Given the description of an element on the screen output the (x, y) to click on. 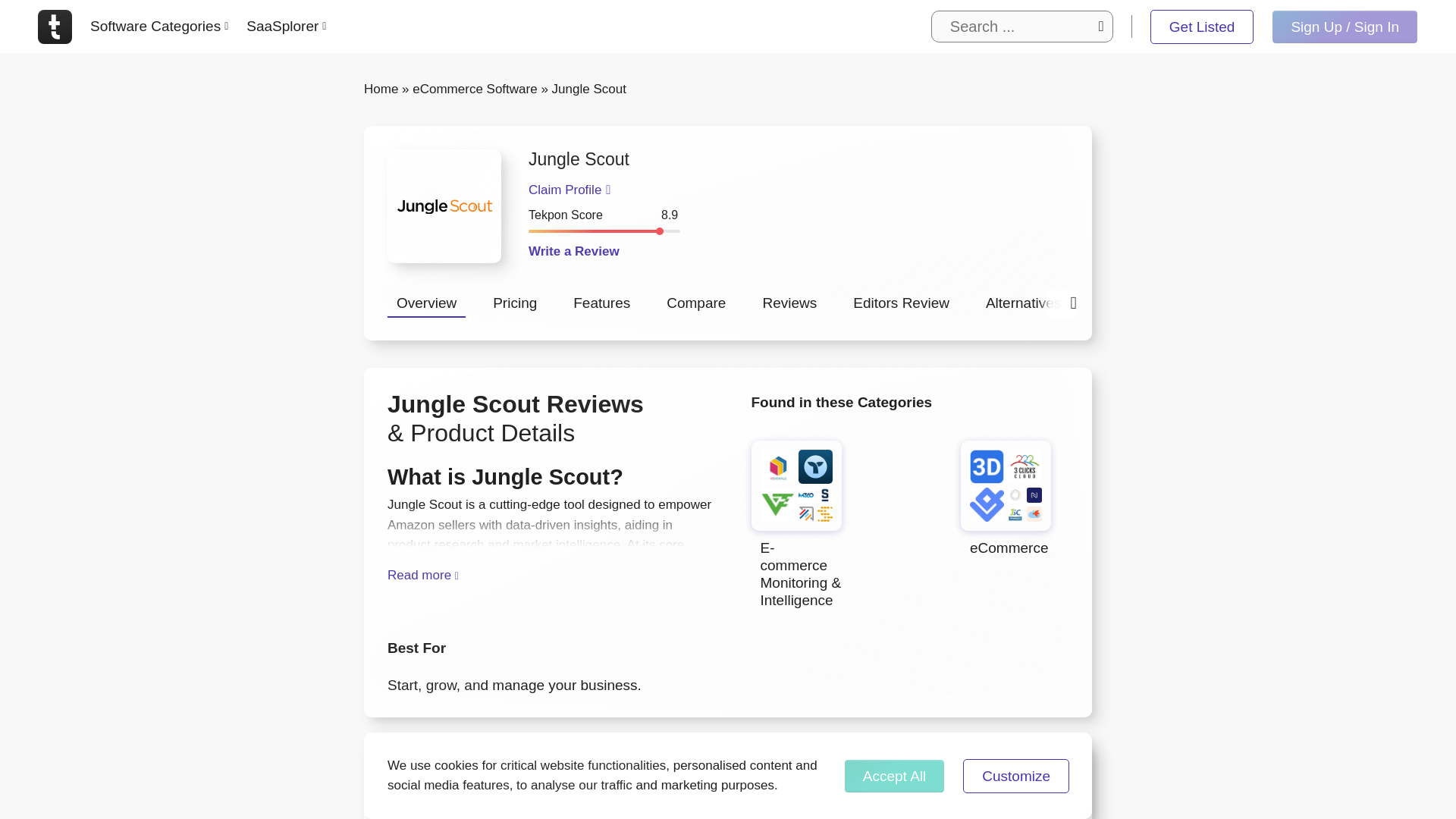
Jungle Scout Editors Review (901, 304)
Market360 Favicon - Software reviews on Tekpon (804, 494)
Vendorelite Favicon - Software reviews on Tekpon (776, 504)
Jungle Scout vs Similar Products (696, 304)
Tekpon Favicon Logo (54, 26)
Triple Whale Favicon - Software reviews on Tekpon (814, 466)
Jungle Scout logo - review by Tekpon (444, 205)
42Signals Favicon - Software reviews on Tekpon (776, 466)
Jungle Scout Reviews (788, 304)
Jungle Scout Overview (426, 304)
